Given the description of an element on the screen output the (x, y) to click on. 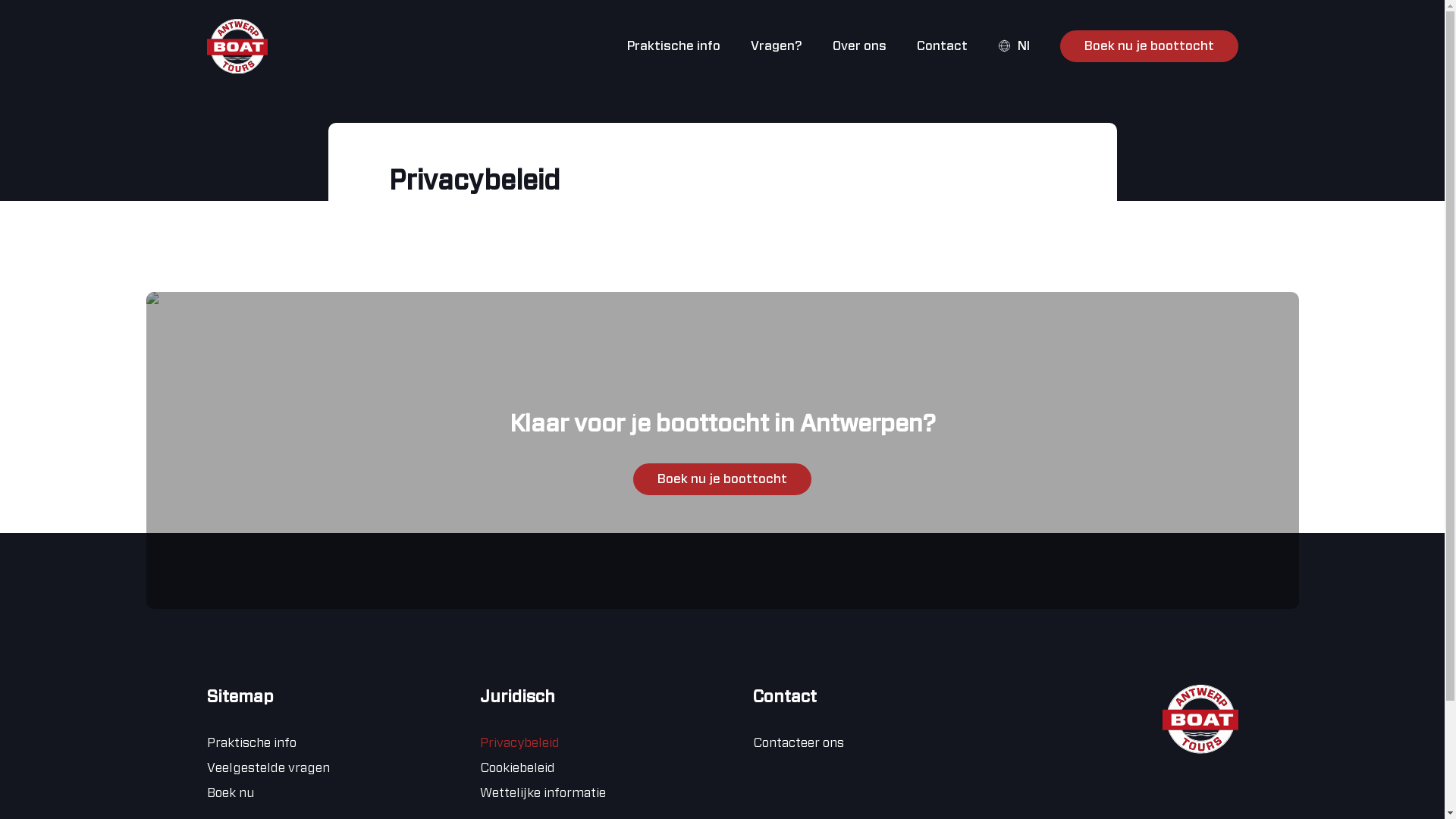
Veelgestelde vragen Element type: text (267, 767)
Boek nu je boottocht Element type: text (722, 479)
Cookiebeleid Element type: text (516, 767)
Wettelijke informatie Element type: text (542, 792)
Praktische info Element type: text (672, 45)
Praktische info Element type: text (250, 742)
Privacybeleid Element type: text (518, 742)
Contact Element type: text (941, 45)
Boek nu je boottocht Element type: text (1149, 45)
Over ons Element type: text (859, 45)
Contacteer ons Element type: text (797, 742)
Boek nu Element type: text (229, 792)
Vragen? Element type: text (776, 45)
